Given the description of an element on the screen output the (x, y) to click on. 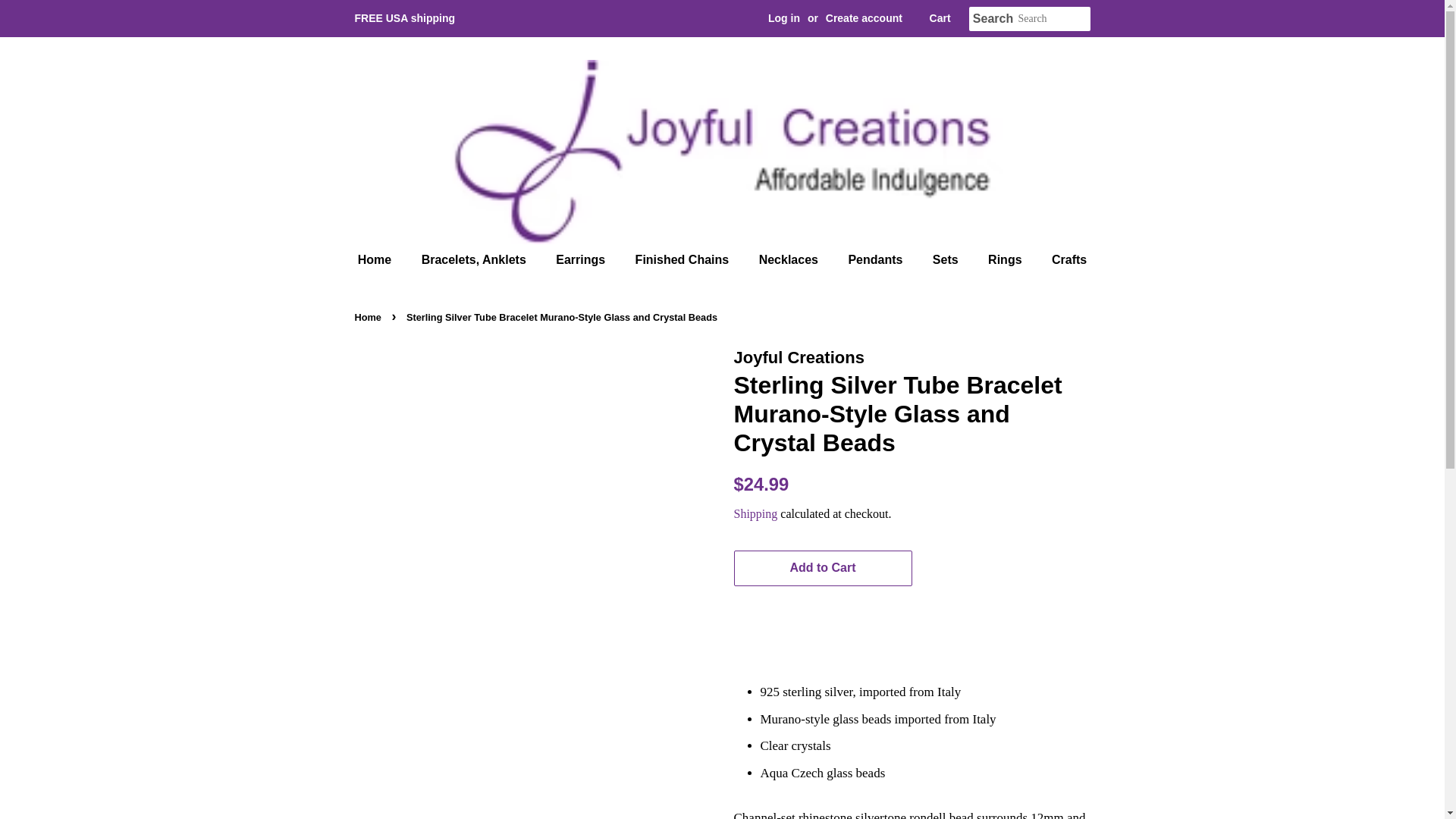
Log in (783, 18)
Cart (940, 18)
Create account (863, 18)
Home (382, 259)
Search (993, 18)
Bracelets, Anklets (475, 259)
Back to the frontpage (370, 317)
